Given the description of an element on the screen output the (x, y) to click on. 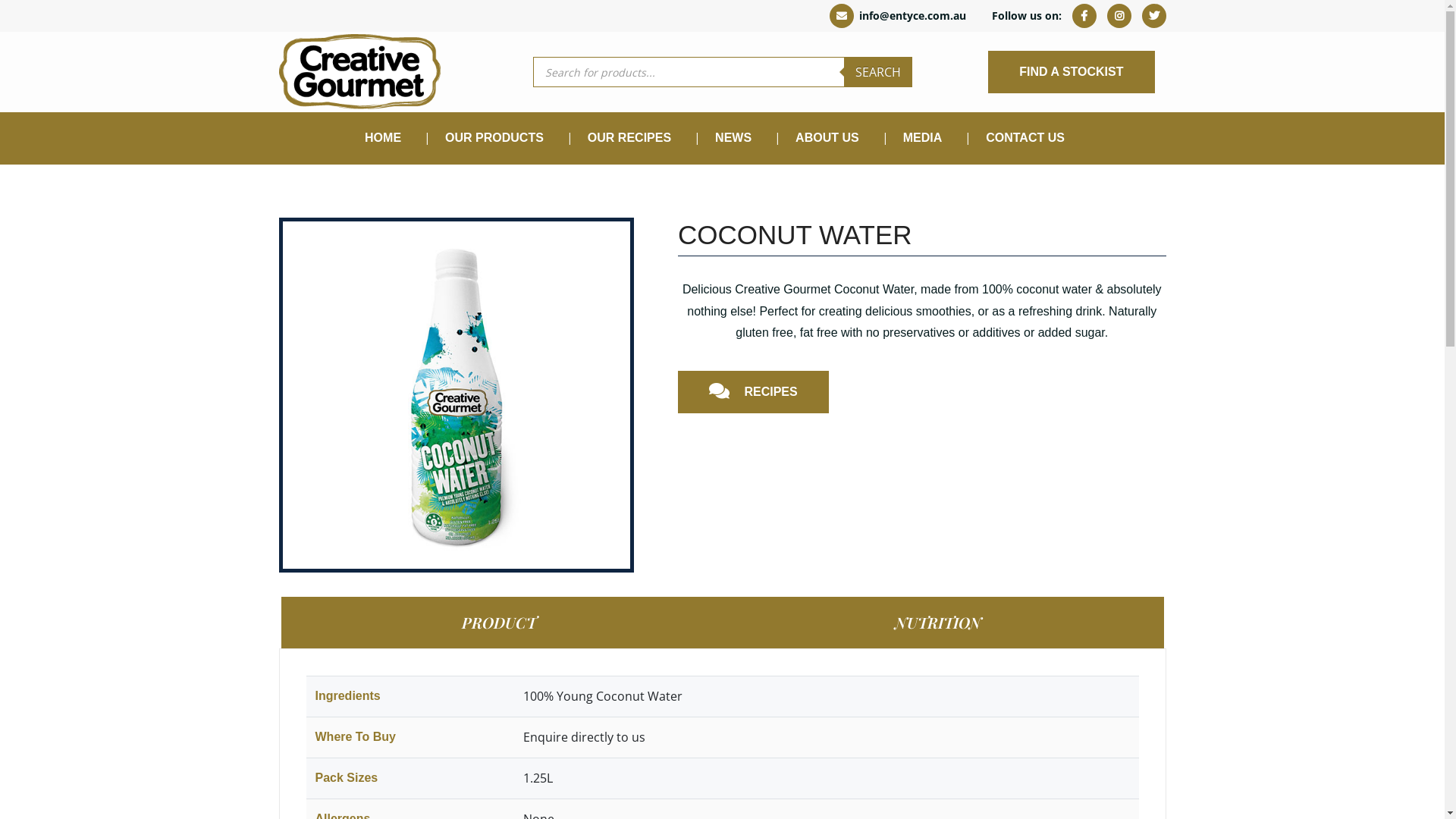
Twitter Element type: hover (1154, 15)
OUR RECIPES Element type: text (629, 138)
Instagram Element type: hover (1119, 15)
FIND A STOCKIST Element type: text (1071, 71)
SEARCH Element type: text (877, 71)
coco Element type: hover (455, 394)
info@entyce.com.au Element type: text (897, 15)
CONTACT US Element type: text (1025, 138)
NUTRITION Element type: text (938, 622)
NEWS Element type: text (733, 138)
HOME Element type: text (382, 138)
Facebook Element type: hover (1084, 15)
RECIPES Element type: text (752, 391)
PRODUCT Element type: text (498, 622)
ABOUT US Element type: text (826, 138)
OUR PRODUCTS Element type: text (494, 138)
MEDIA Element type: text (922, 138)
